Given the description of an element on the screen output the (x, y) to click on. 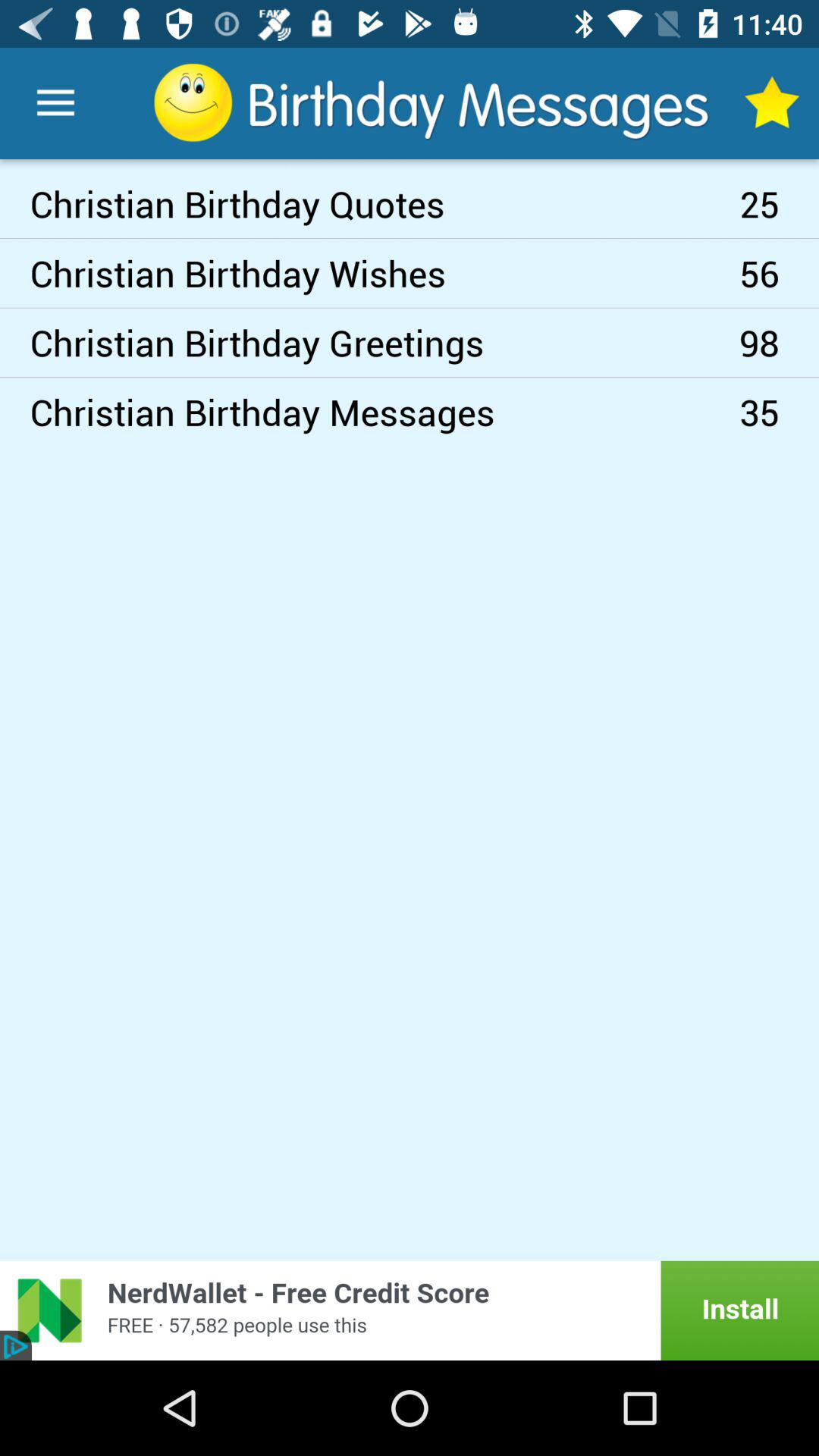
press the icon next to the christian birthday greetings (779, 272)
